Given the description of an element on the screen output the (x, y) to click on. 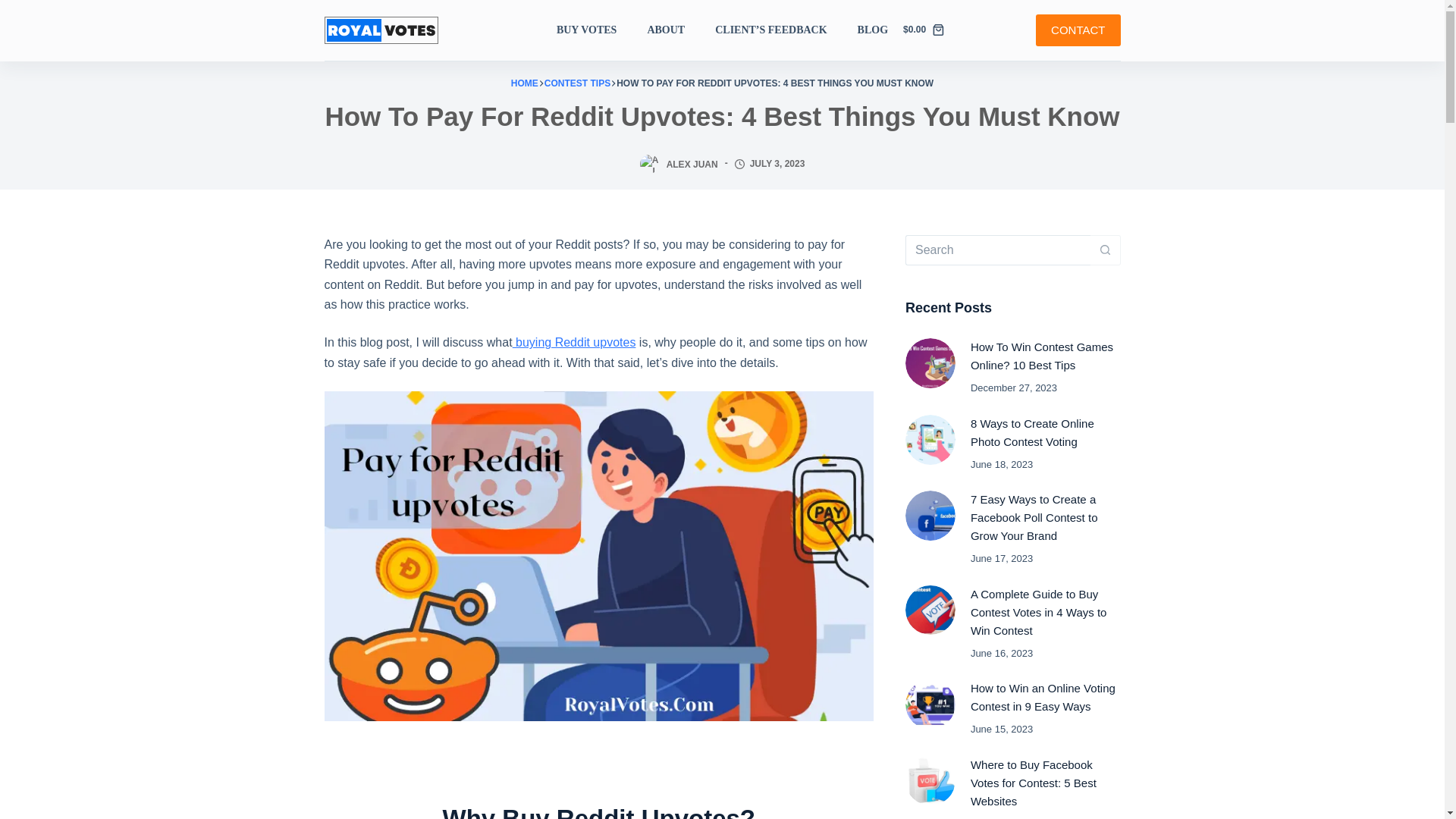
ABOUT (665, 30)
Search for... (997, 250)
Skip to content (15, 7)
Posts by Alex Juan (691, 163)
BUY VOTES (593, 30)
How To Pay For Reddit Upvotes: 4 Best Things You Must Know (722, 116)
8 Ways to Create Online Photo Contest Voting (1032, 431)
How To Win Contest Games Online? 10 Best Tips (1042, 355)
ALEX JUAN (691, 163)
CONTACT (1077, 29)
CONTEST TIPS (577, 82)
How to Win an Online Voting Contest in 9 Easy Ways (1043, 696)
HOME (524, 82)
Where to Buy Facebook Votes for Contest: 5 Best Websites (1033, 782)
